Given the description of an element on the screen output the (x, y) to click on. 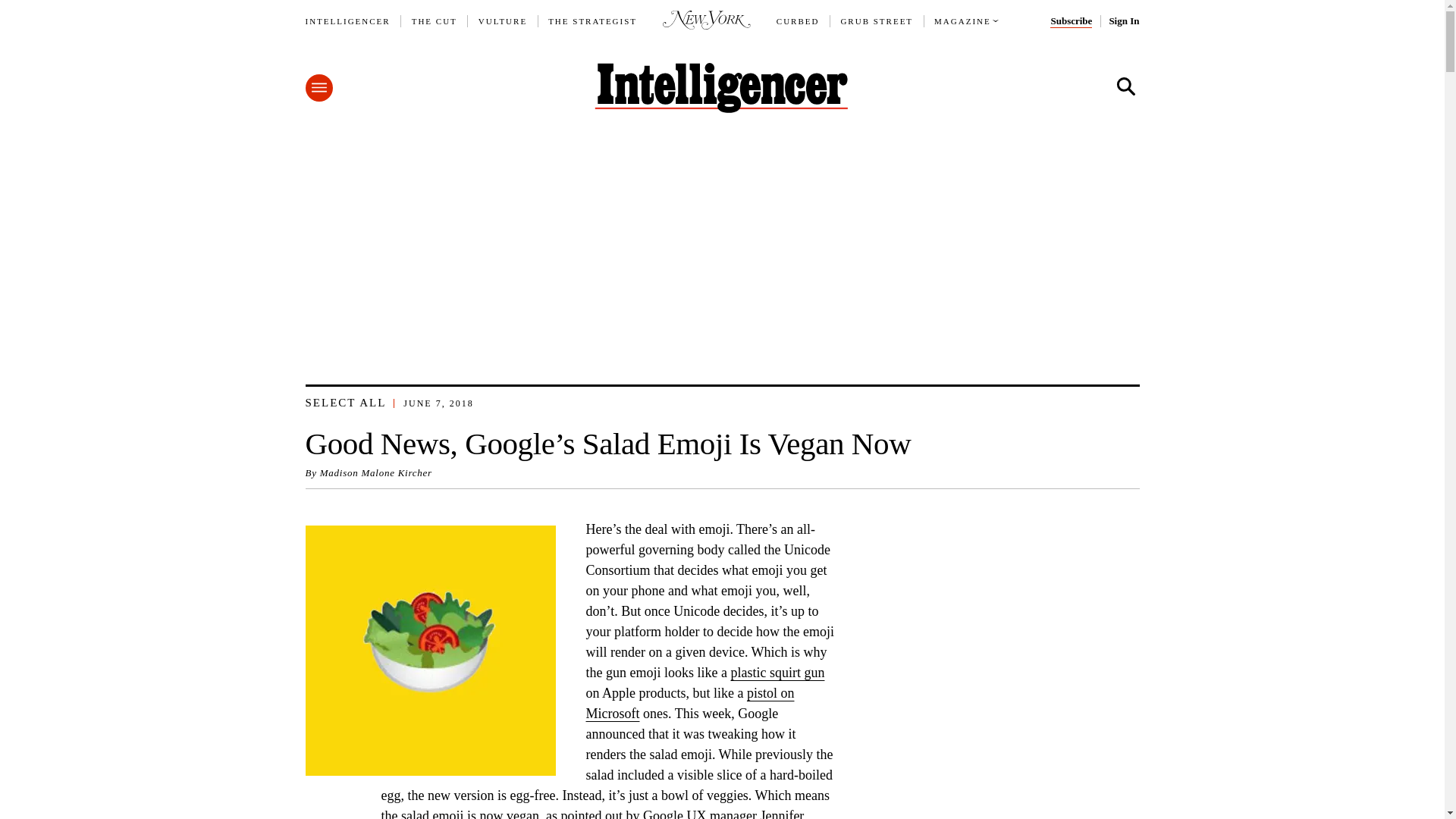
THE STRATEGIST (592, 21)
INTELLIGENCER (347, 21)
GRUB STREET (876, 21)
MAGAZINE (962, 21)
Sign In (1123, 21)
Menu (317, 87)
CURBED (797, 21)
Search (1124, 86)
Search (1124, 86)
Subscribe (1070, 21)
